Given the description of an element on the screen output the (x, y) to click on. 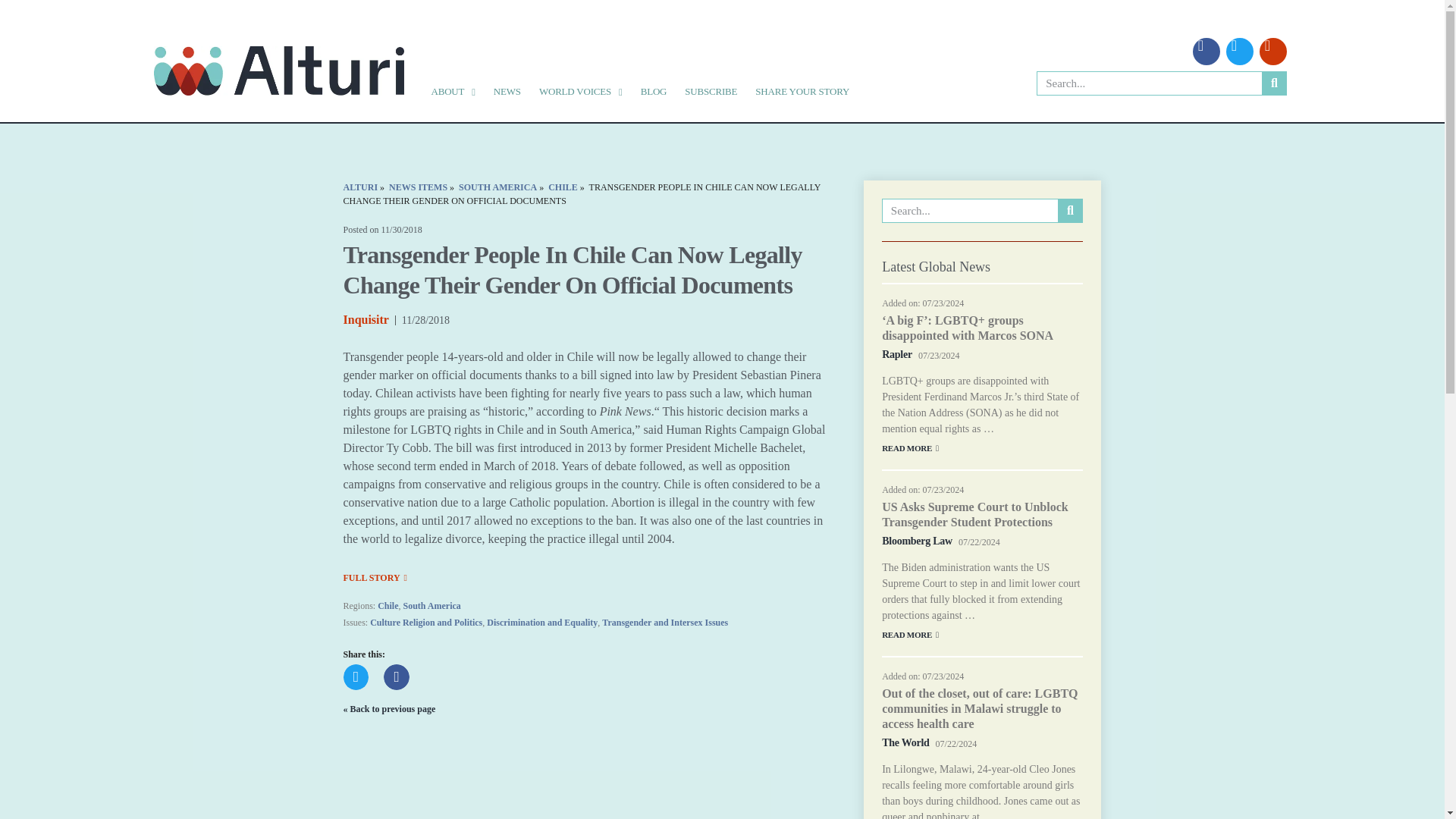
NEWS ITEMS (417, 186)
ALTURI (359, 186)
Inquisitr (365, 319)
Culture Religion and Politics (425, 622)
Go to News Items. (417, 186)
SHARE YOUR STORY (802, 91)
South America (432, 605)
Discrimination and Equality (541, 622)
Transgender and Intersex Issues (665, 622)
Go to the Chile category archives. (563, 186)
Go to the South America category archives. (497, 186)
NEWS (506, 91)
SOUTH AMERICA (497, 186)
SUBSCRIBE (710, 91)
WORLD VOICES (580, 91)
